Given the description of an element on the screen output the (x, y) to click on. 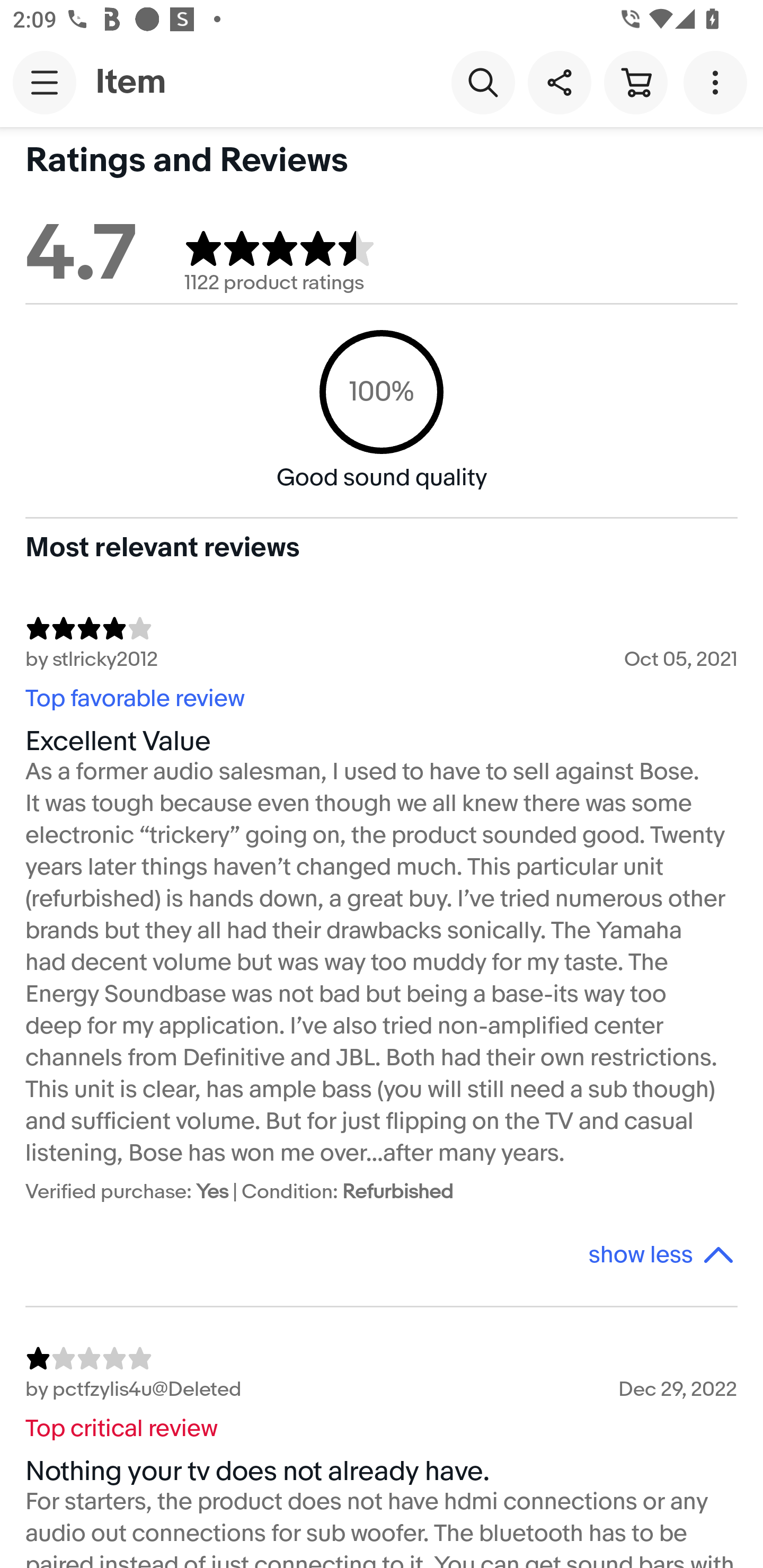
Main navigation, open (44, 82)
Search (482, 81)
Share this item (559, 81)
Cart button shopping cart (635, 81)
More options (718, 81)
